Given the description of an element on the screen output the (x, y) to click on. 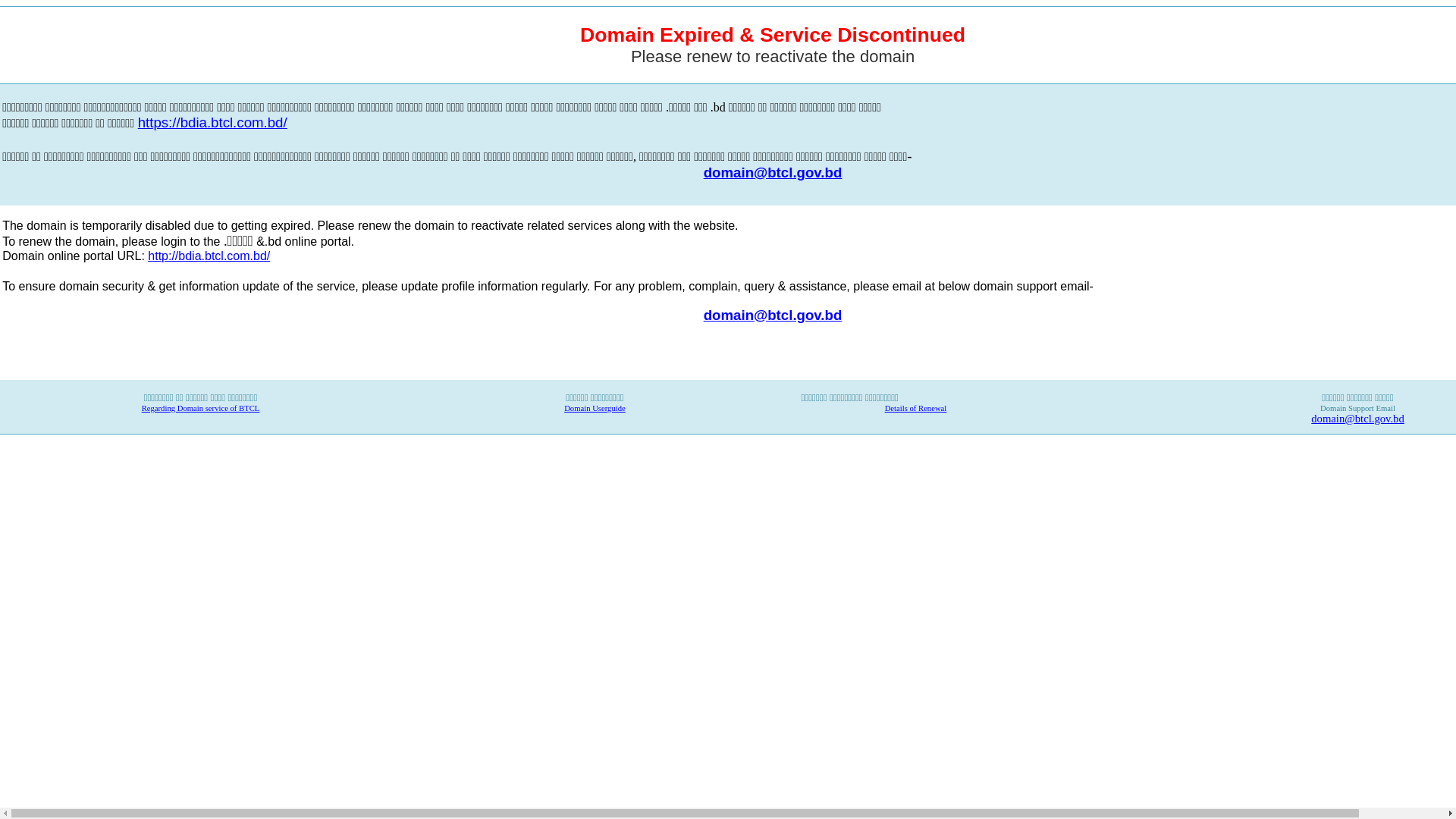
domain@btcl.gov.bd Element type: text (772, 314)
domain@btcl.gov.bd Element type: text (1357, 418)
Regarding Domain service of BTCL Element type: text (200, 408)
Domain Userguide Element type: text (594, 408)
Details of Renewal Element type: text (915, 408)
domain@btcl.gov.bd Element type: text (772, 172)
http://bdia.btcl.com.bd/ Element type: text (208, 256)
https://bdia.btcl.com.bd/ Element type: text (212, 123)
